Given the description of an element on the screen output the (x, y) to click on. 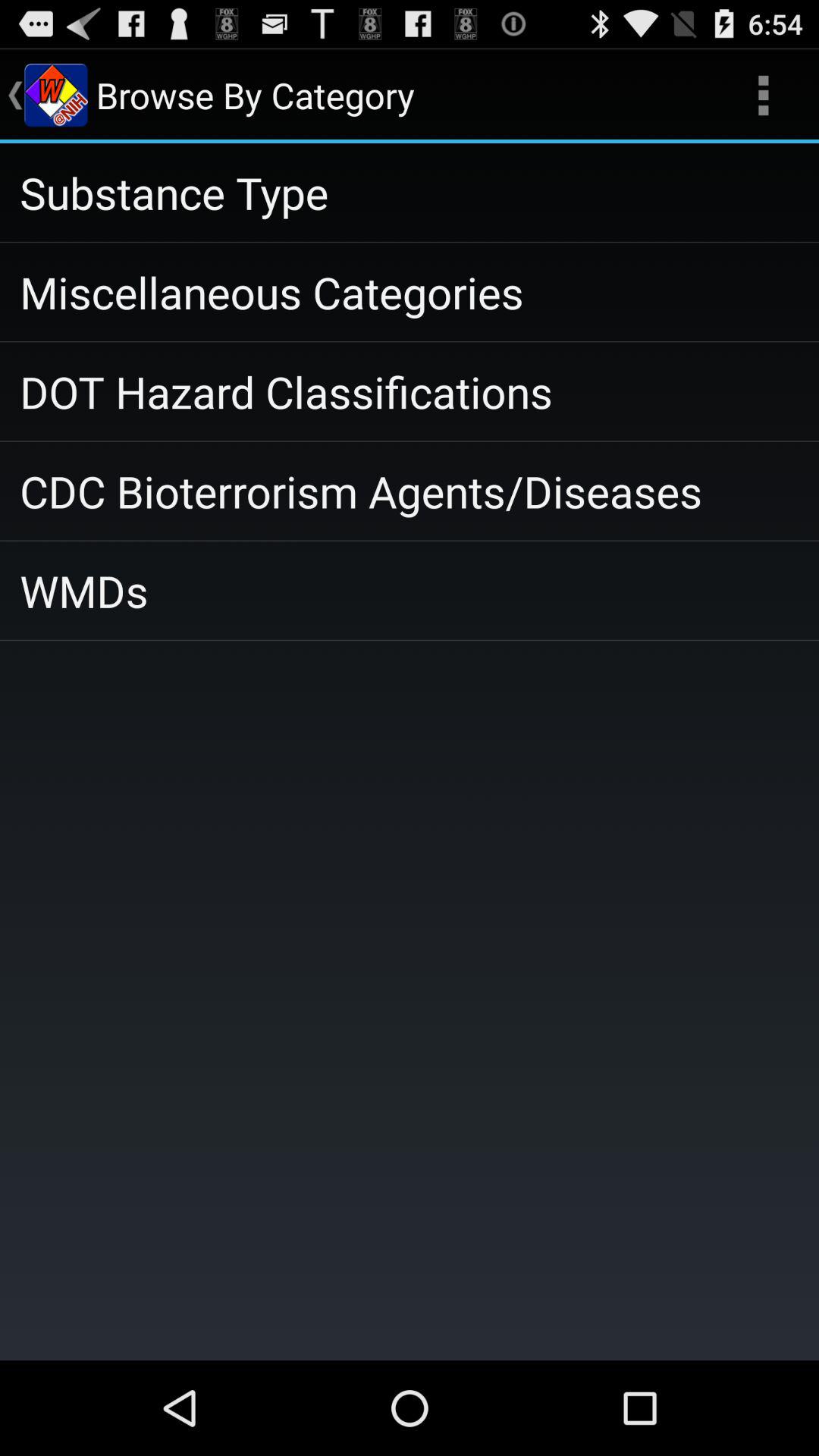
open icon above the dot hazard classifications icon (409, 291)
